Given the description of an element on the screen output the (x, y) to click on. 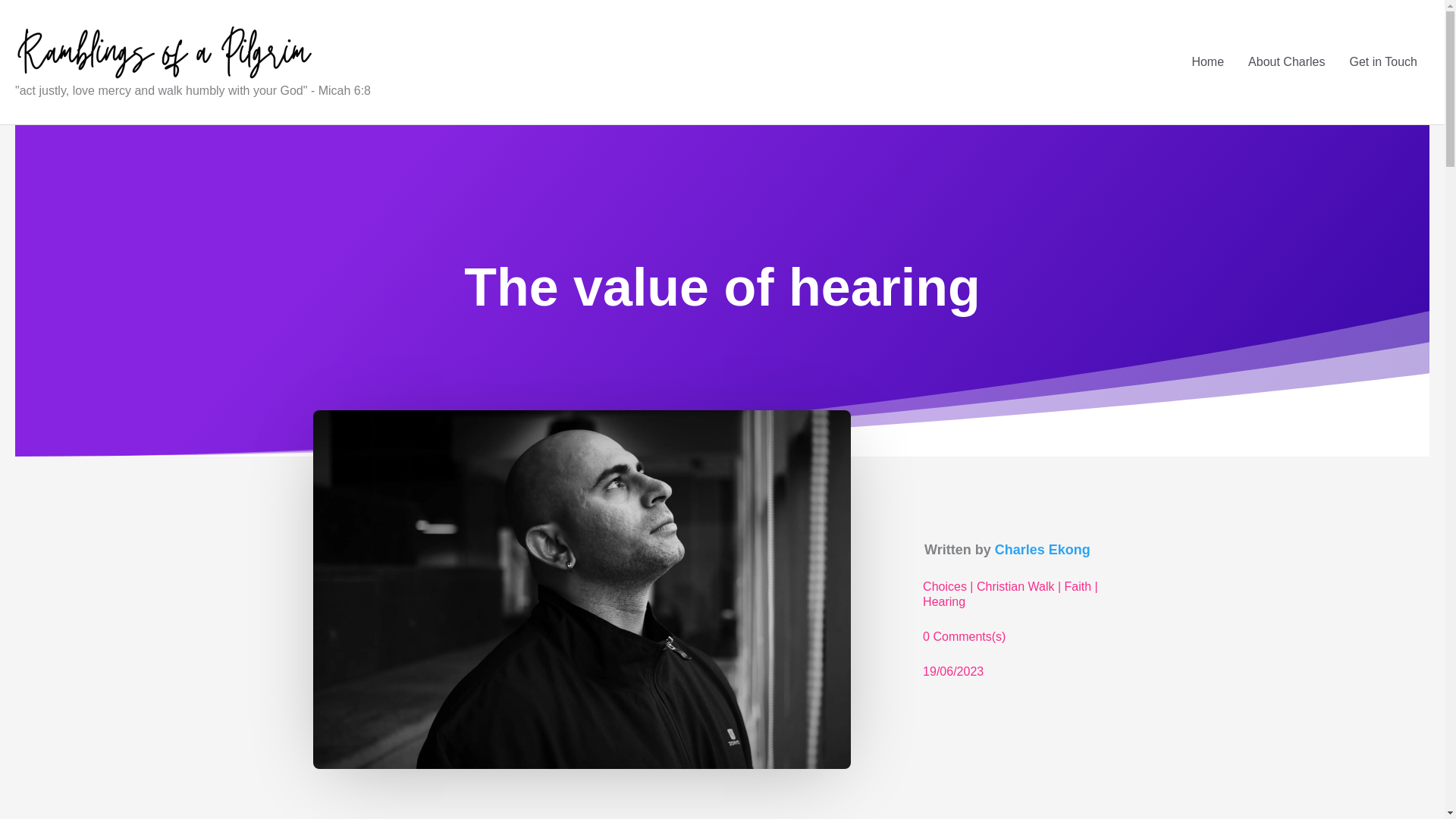
Christian Walk (1015, 589)
Faith (1078, 589)
About Charles (1286, 61)
Hearing (944, 605)
Get in Touch (1382, 61)
Charles Ekong (1042, 553)
Choices (944, 589)
Home (1207, 61)
